Given the description of an element on the screen output the (x, y) to click on. 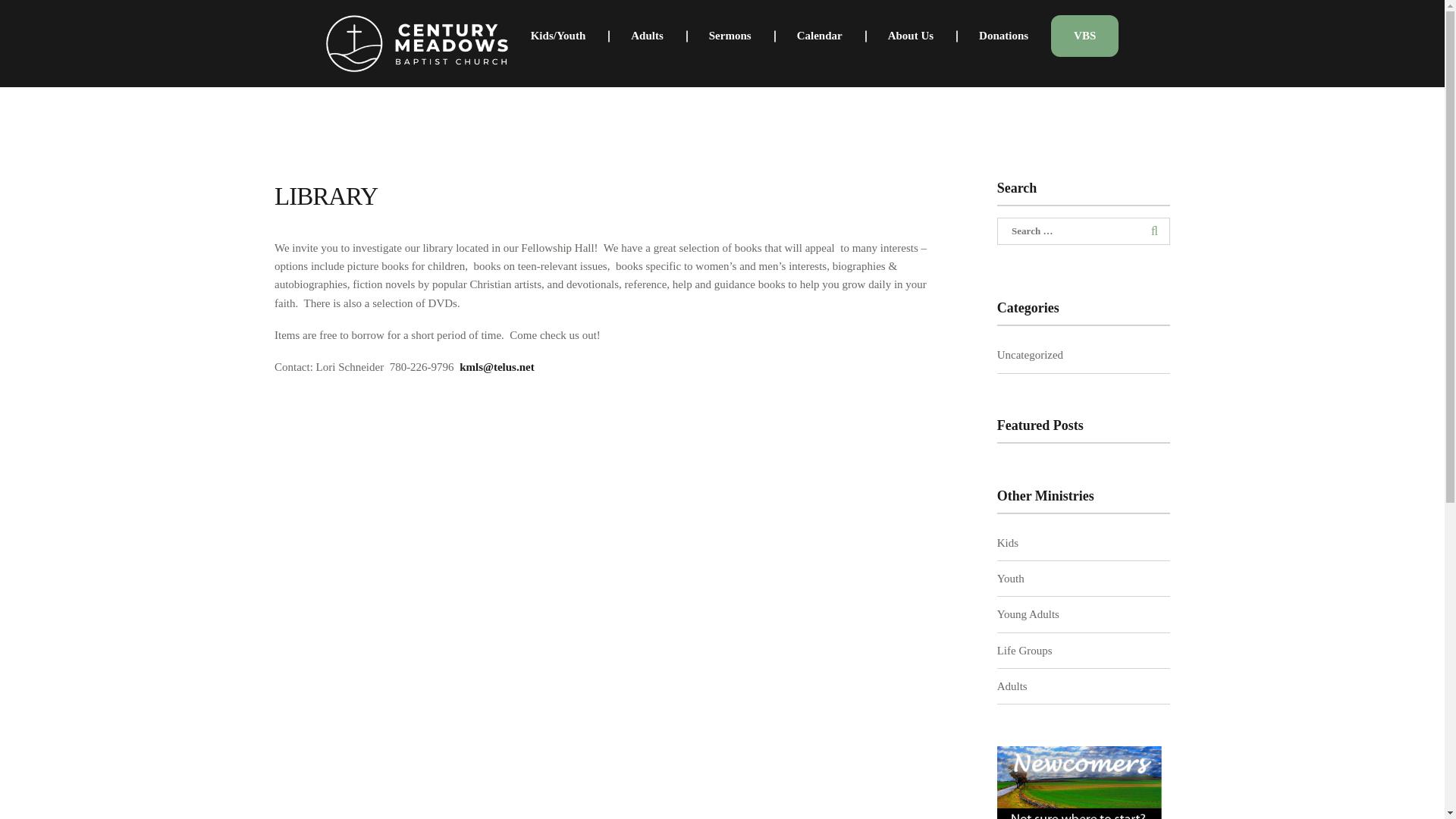
Calendar (819, 35)
Donations (1003, 35)
VBS (1084, 35)
About Us (910, 35)
Sermons (729, 35)
Adults (646, 35)
